Given the description of an element on the screen output the (x, y) to click on. 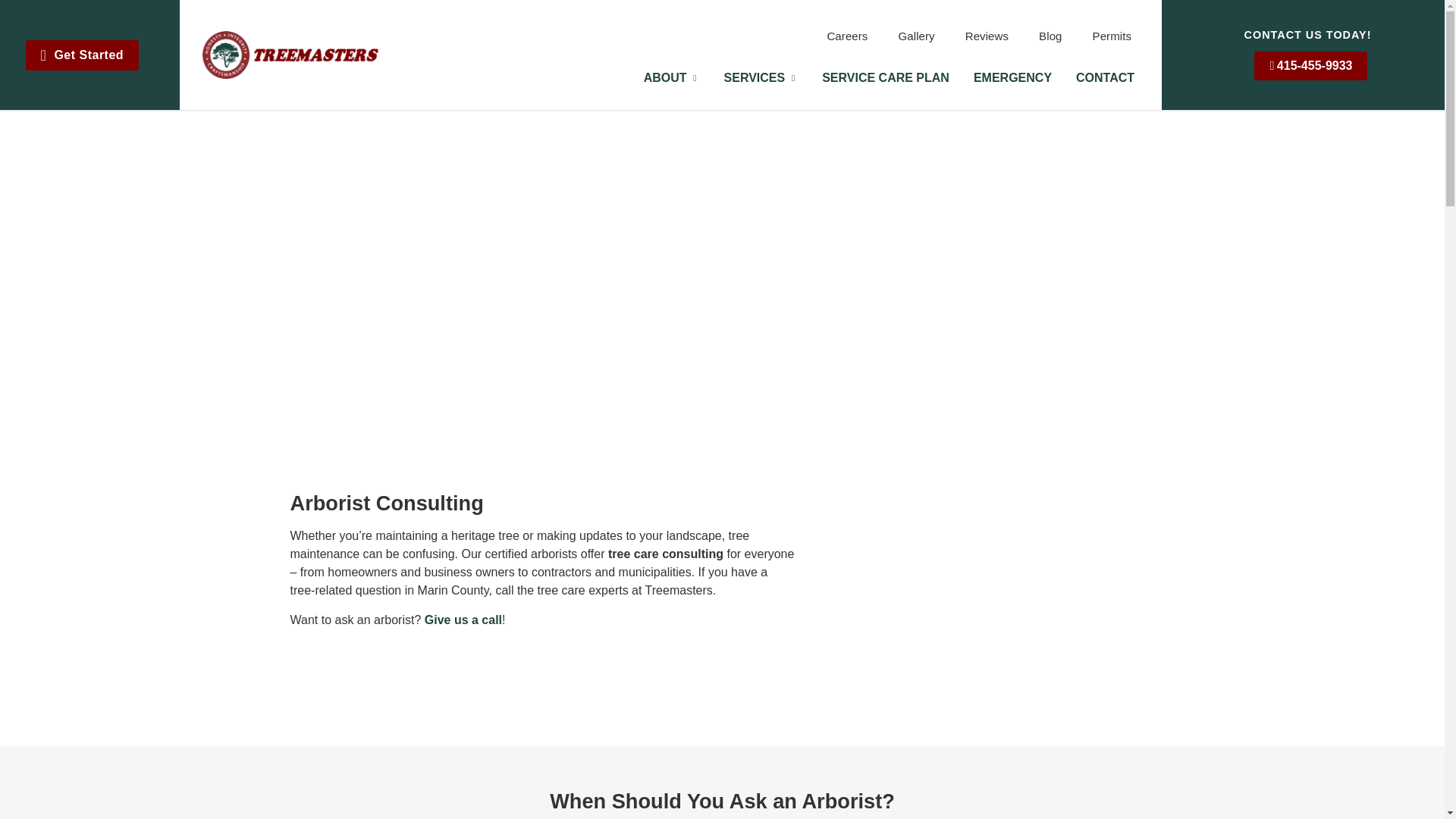
Gallery (915, 35)
SERVICES (754, 76)
ABOUT (665, 76)
Blog (1050, 35)
Permits (1112, 35)
Reviews (986, 35)
Careers (846, 35)
